Given the description of an element on the screen output the (x, y) to click on. 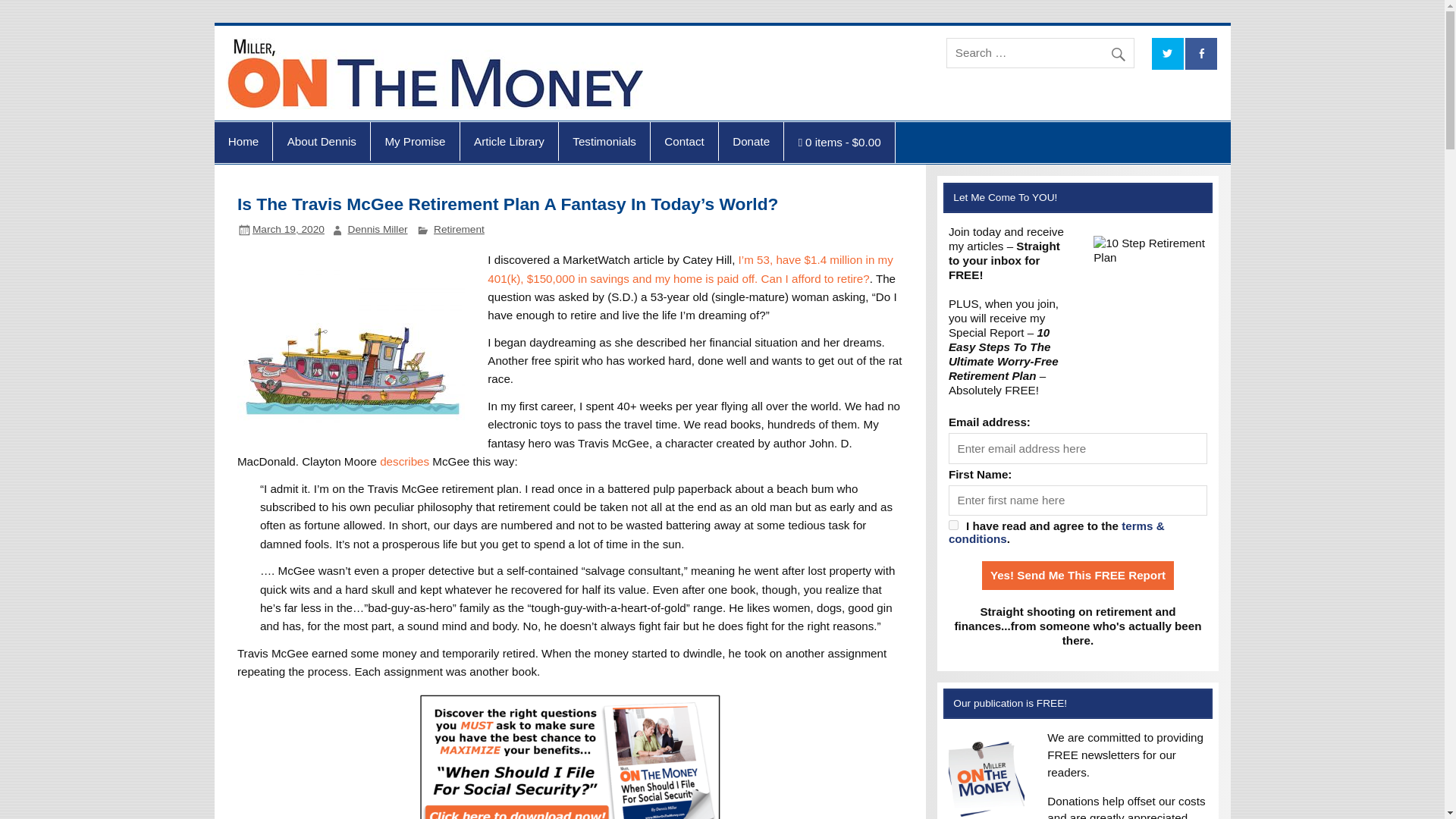
Miller on the Money (793, 51)
Testimonials (604, 141)
1 (953, 524)
My Promise (415, 141)
Donate (751, 141)
Yes! Send Me This FREE Report (1077, 575)
View all posts by Dennis Miller (377, 229)
About Dennis (321, 141)
4:00 am (287, 229)
Retirement (458, 229)
